Given the description of an element on the screen output the (x, y) to click on. 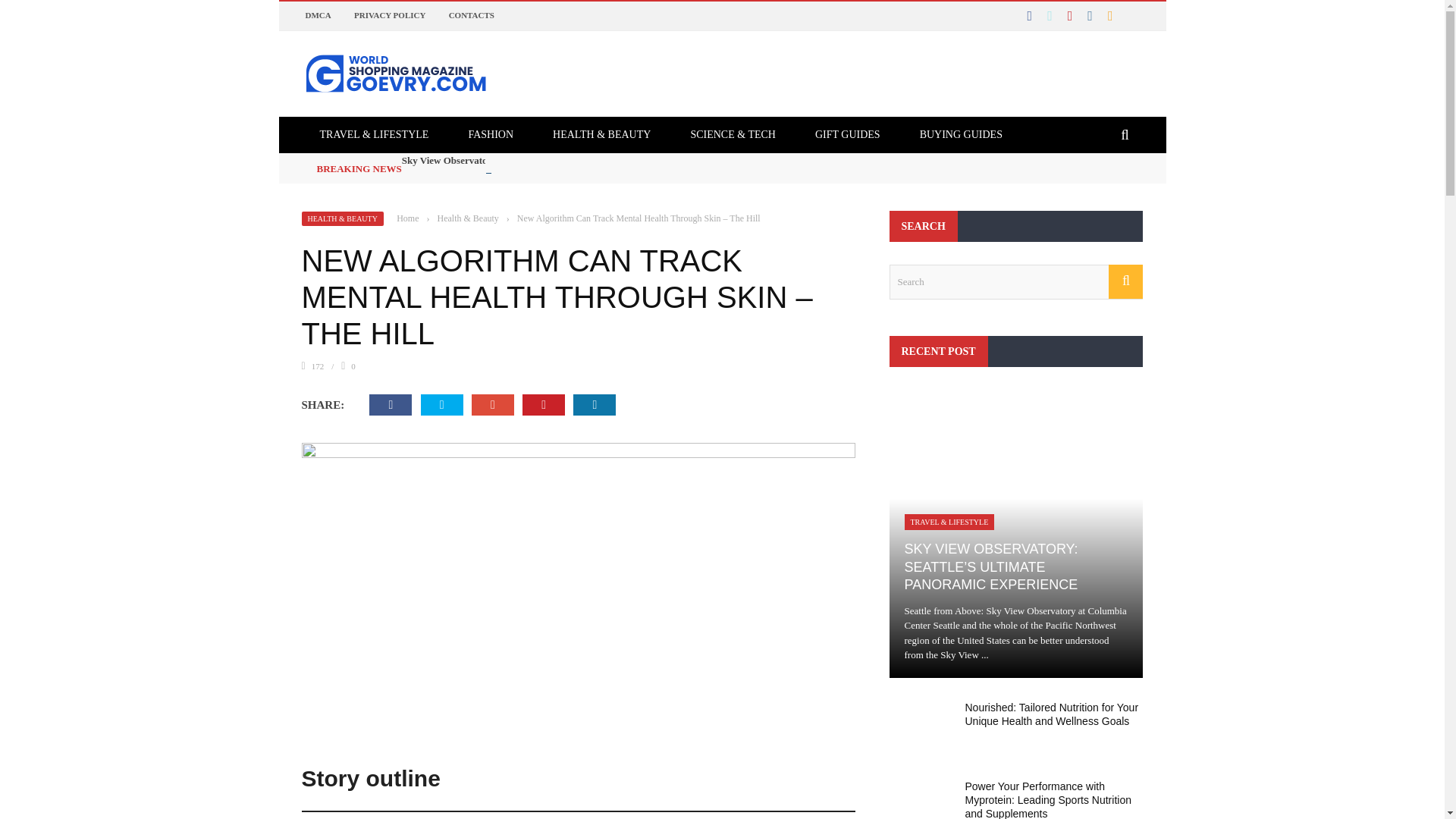
DMCA (317, 14)
PRIVACY POLICY (389, 14)
Search (1015, 281)
CONTACTS (471, 14)
